Given the description of an element on the screen output the (x, y) to click on. 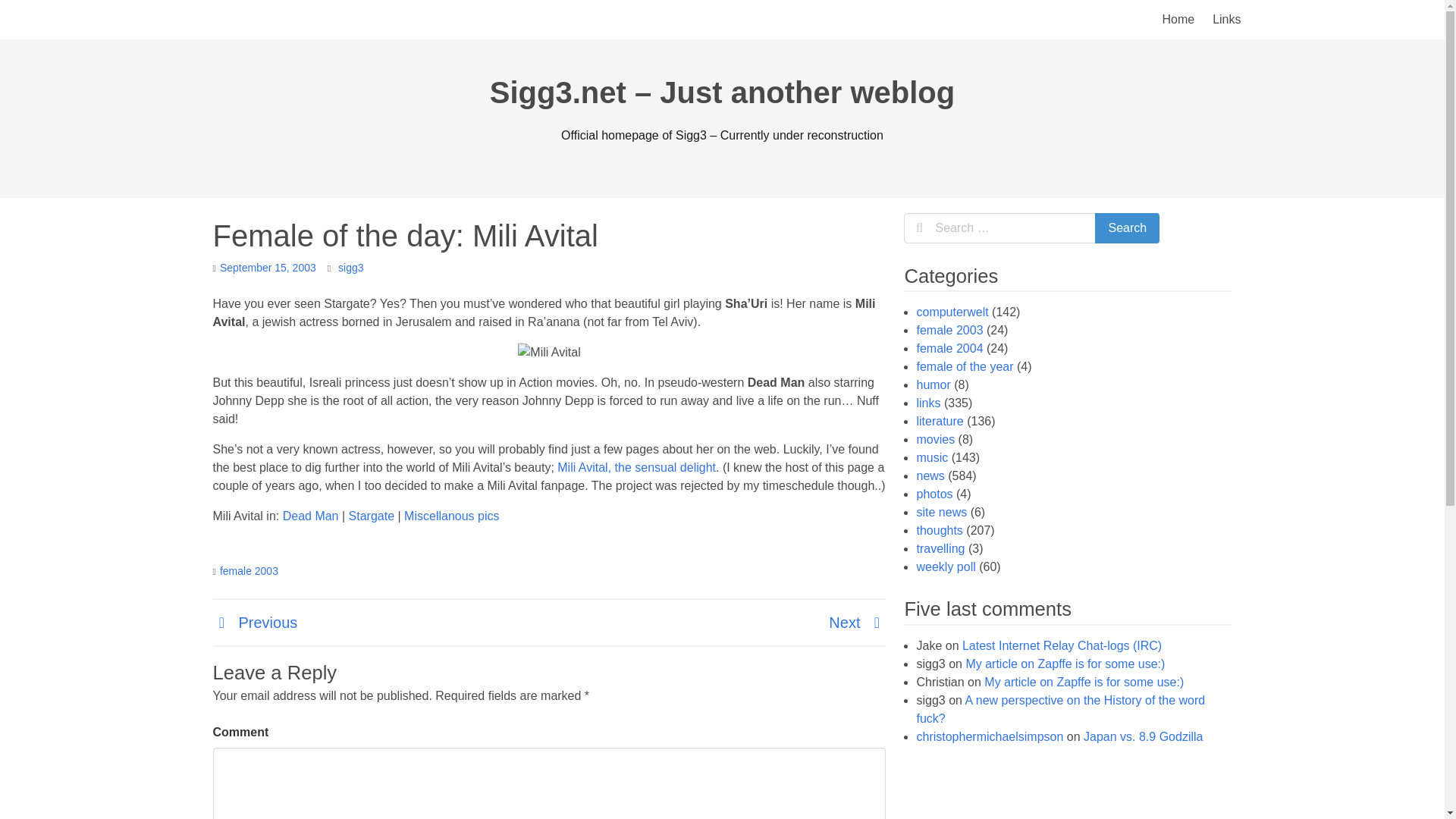
September 15, 2003 (267, 267)
weekly poll (945, 566)
Search (1126, 227)
sigg3 (349, 267)
computerwelt (951, 311)
Previous (254, 622)
Search (1126, 227)
links (927, 402)
female 2003 (948, 329)
humor (932, 384)
